Given the description of an element on the screen output the (x, y) to click on. 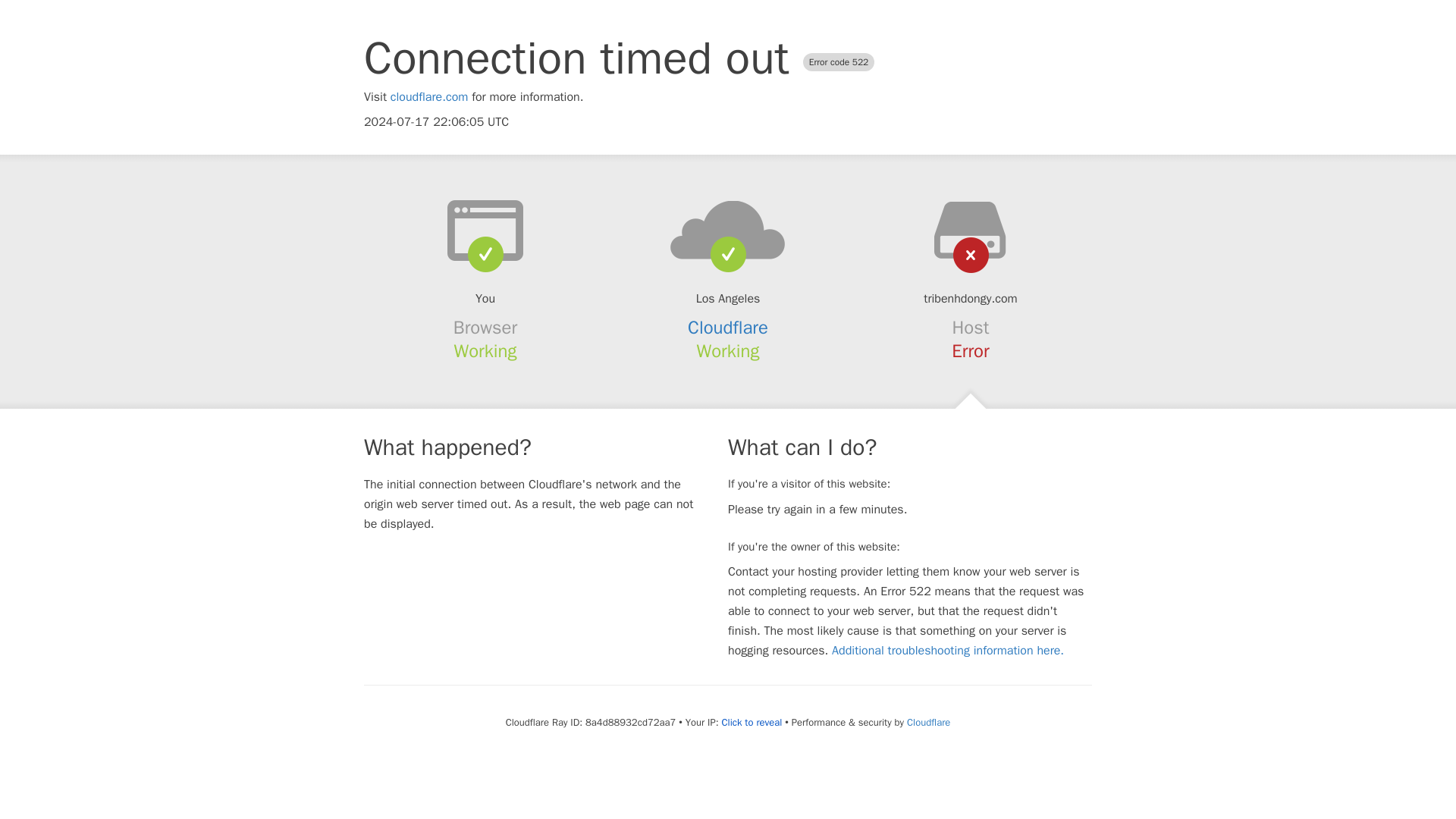
Click to reveal (750, 722)
cloudflare.com (429, 96)
Cloudflare (928, 721)
Cloudflare (727, 327)
Additional troubleshooting information here. (947, 650)
